Given the description of an element on the screen output the (x, y) to click on. 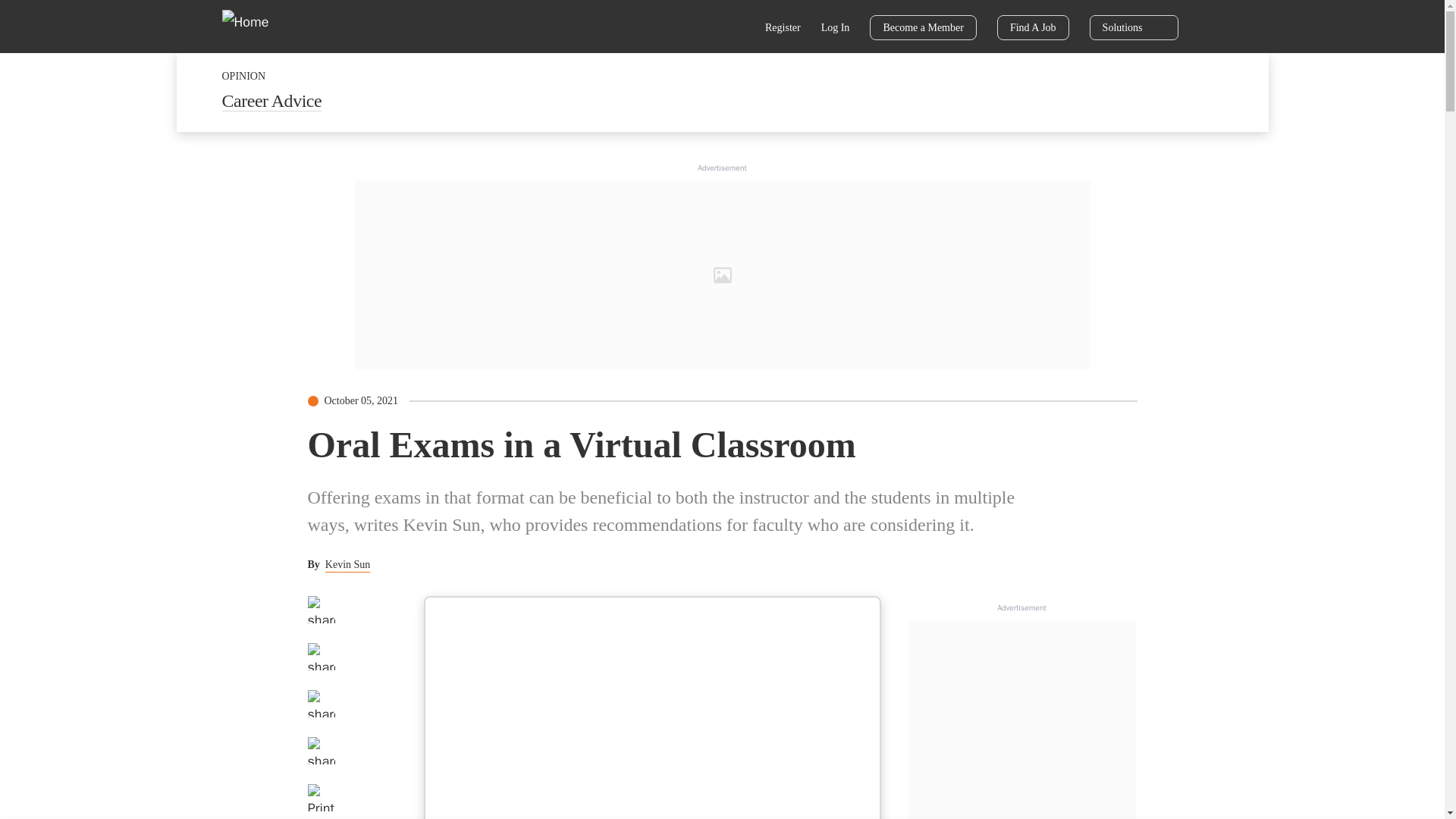
Search (736, 28)
share by email (320, 750)
Become a Member (922, 27)
Find A Job (1032, 27)
share to facebook (320, 609)
share to Linkedin (320, 703)
Home (255, 26)
share to twitter (320, 656)
